Given the description of an element on the screen output the (x, y) to click on. 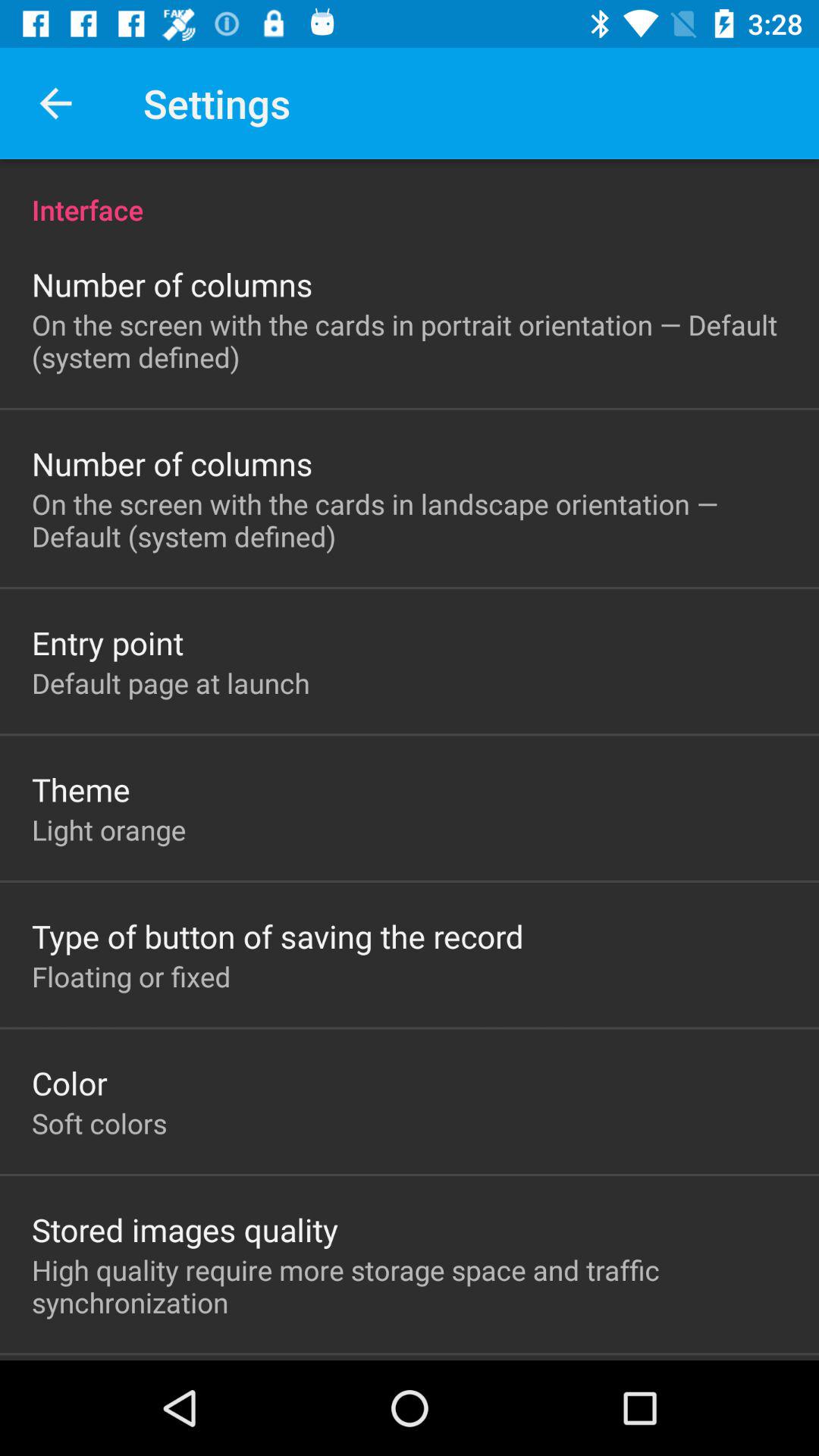
open icon above light orange (80, 789)
